Given the description of an element on the screen output the (x, y) to click on. 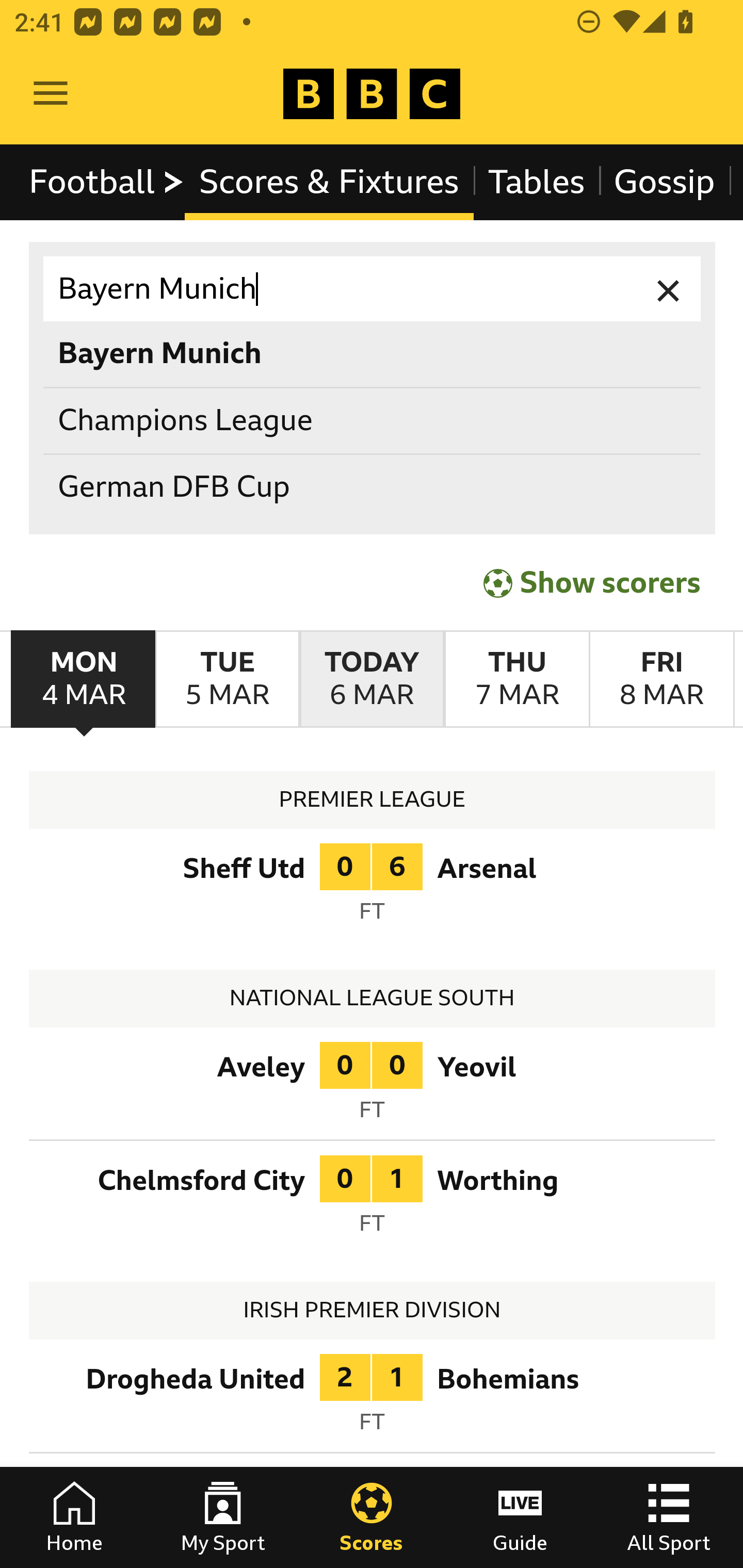
Open Menu (50, 93)
Football  (106, 181)
Scores & Fixtures (329, 181)
Tables (536, 181)
Gossip (664, 181)
Bayern Munich (372, 289)
Clear input (669, 289)
Champions League (372, 419)
German DFB Cup (372, 488)
Show scorers (591, 582)
TuesdayMarch 5th Tuesday March 5th (227, 678)
TodayMarch 6th Today March 6th (371, 678)
ThursdayMarch 7th Thursday March 7th (516, 678)
FridayMarch 8th Friday March 8th (661, 678)
68399653 Sheffield United 0 Arsenal 6 Full Time (372, 888)
Home (74, 1517)
My Sport (222, 1517)
Guide (519, 1517)
All Sport (668, 1517)
